Given the description of an element on the screen output the (x, y) to click on. 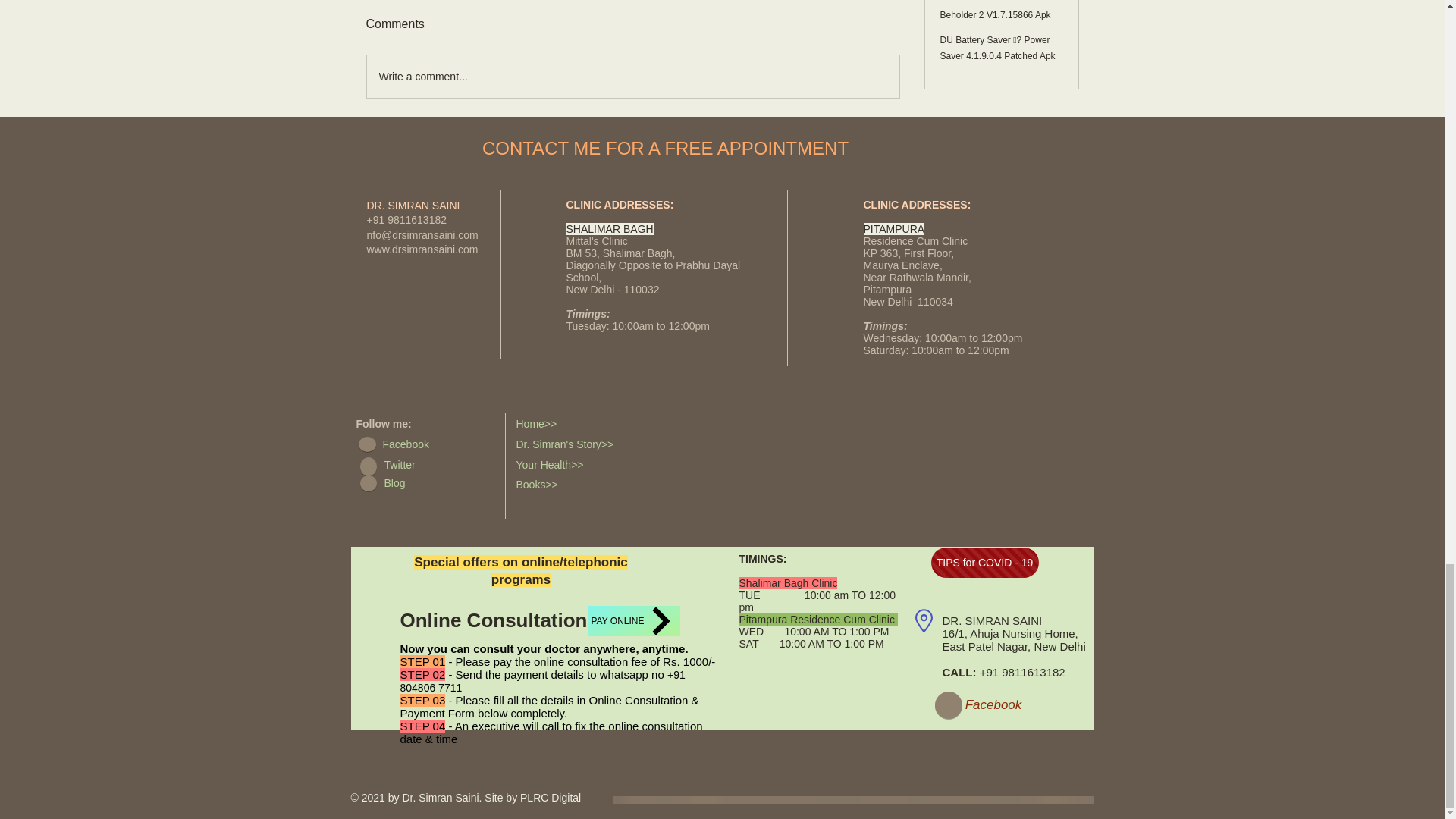
Write a comment... (632, 76)
TIPS for COVID - 19 (985, 562)
Twitter (426, 465)
PAY ONLINE (632, 621)
www.drsimransaini.com (422, 249)
Facebook (424, 445)
Facebook (992, 705)
